Given the description of an element on the screen output the (x, y) to click on. 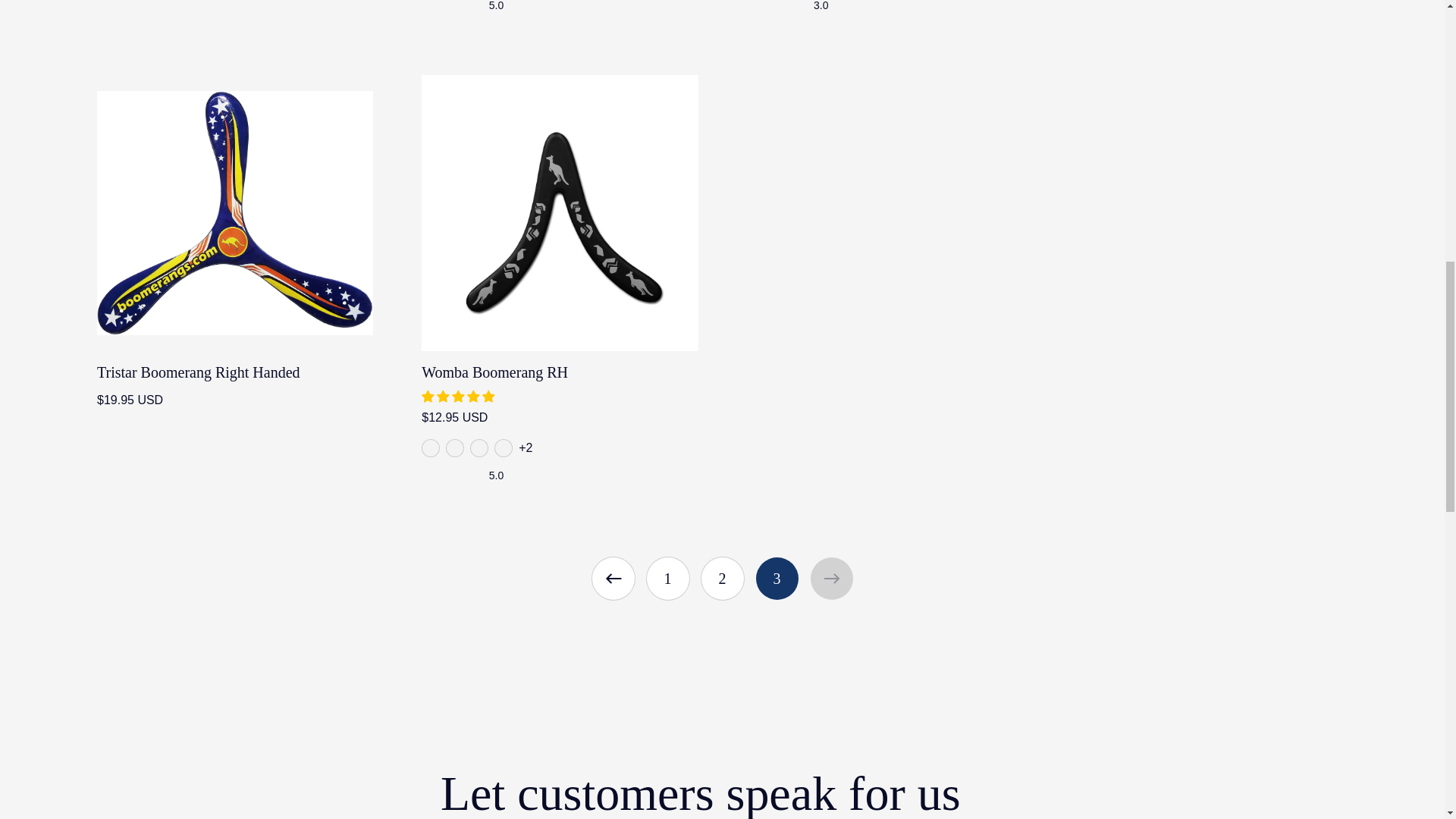
Red (454, 447)
Yellow (478, 447)
Black (430, 447)
Blue (503, 447)
